Given the description of an element on the screen output the (x, y) to click on. 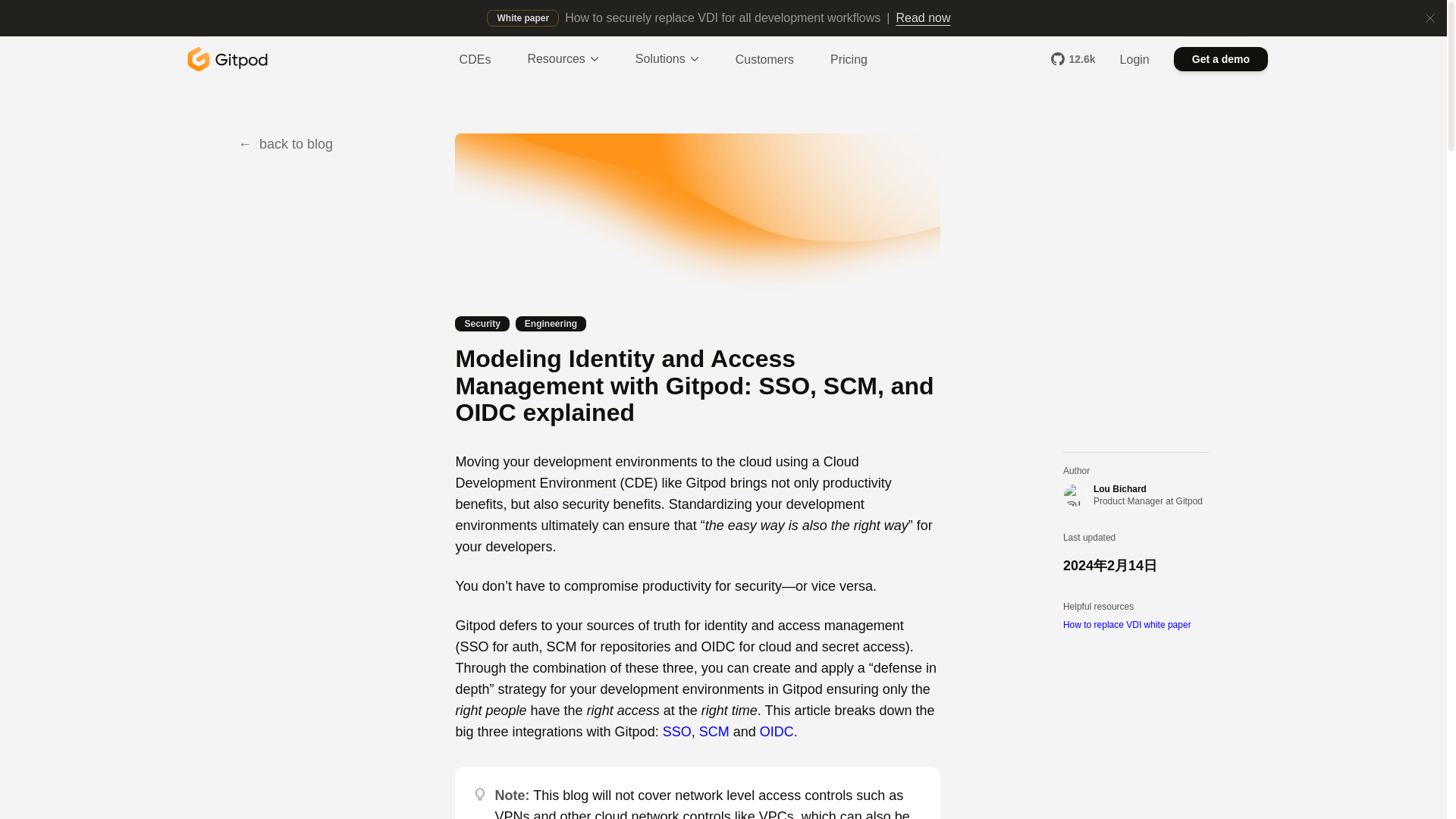
12.6k (1073, 58)
Security (481, 322)
Get a demo (1220, 58)
SCM (713, 731)
Login (1134, 59)
CDEs (476, 55)
SSO (676, 731)
How to replace VDI white paper (1135, 624)
OIDC (776, 731)
Customers (764, 58)
